Given the description of an element on the screen output the (x, y) to click on. 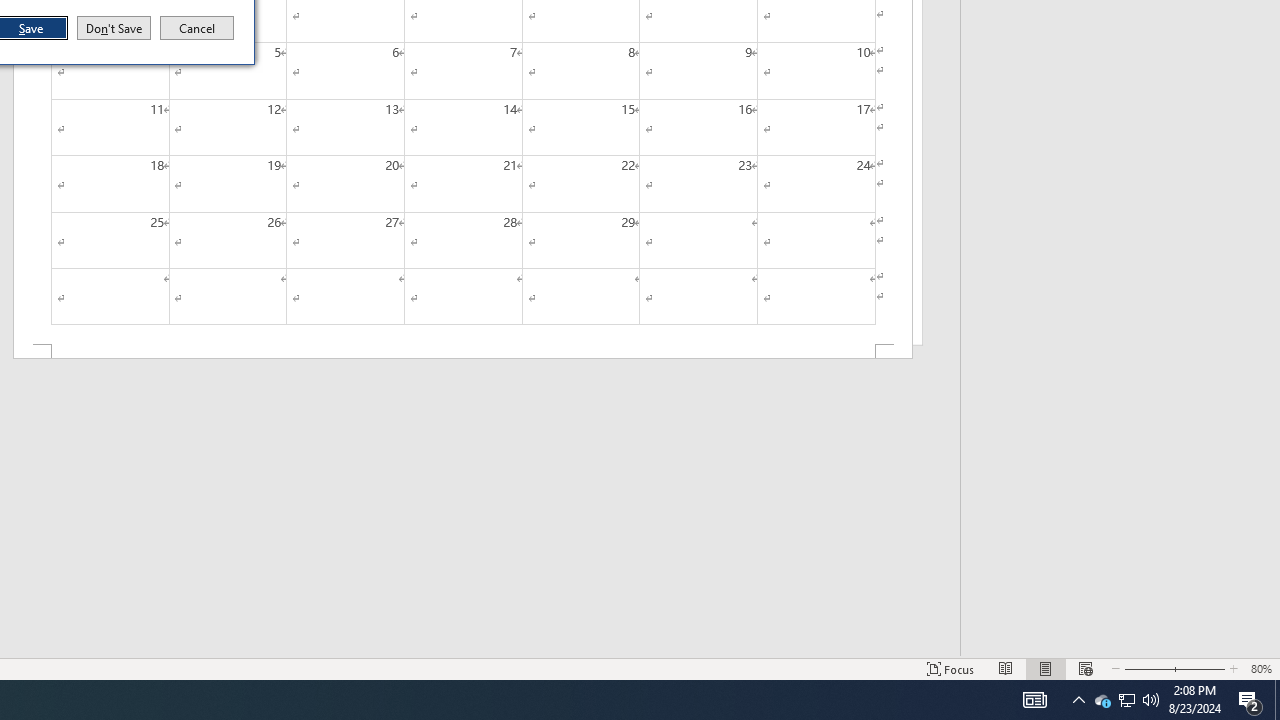
Footer -Section 2- (462, 351)
Don't Save (113, 27)
Cancel (197, 27)
